Given the description of an element on the screen output the (x, y) to click on. 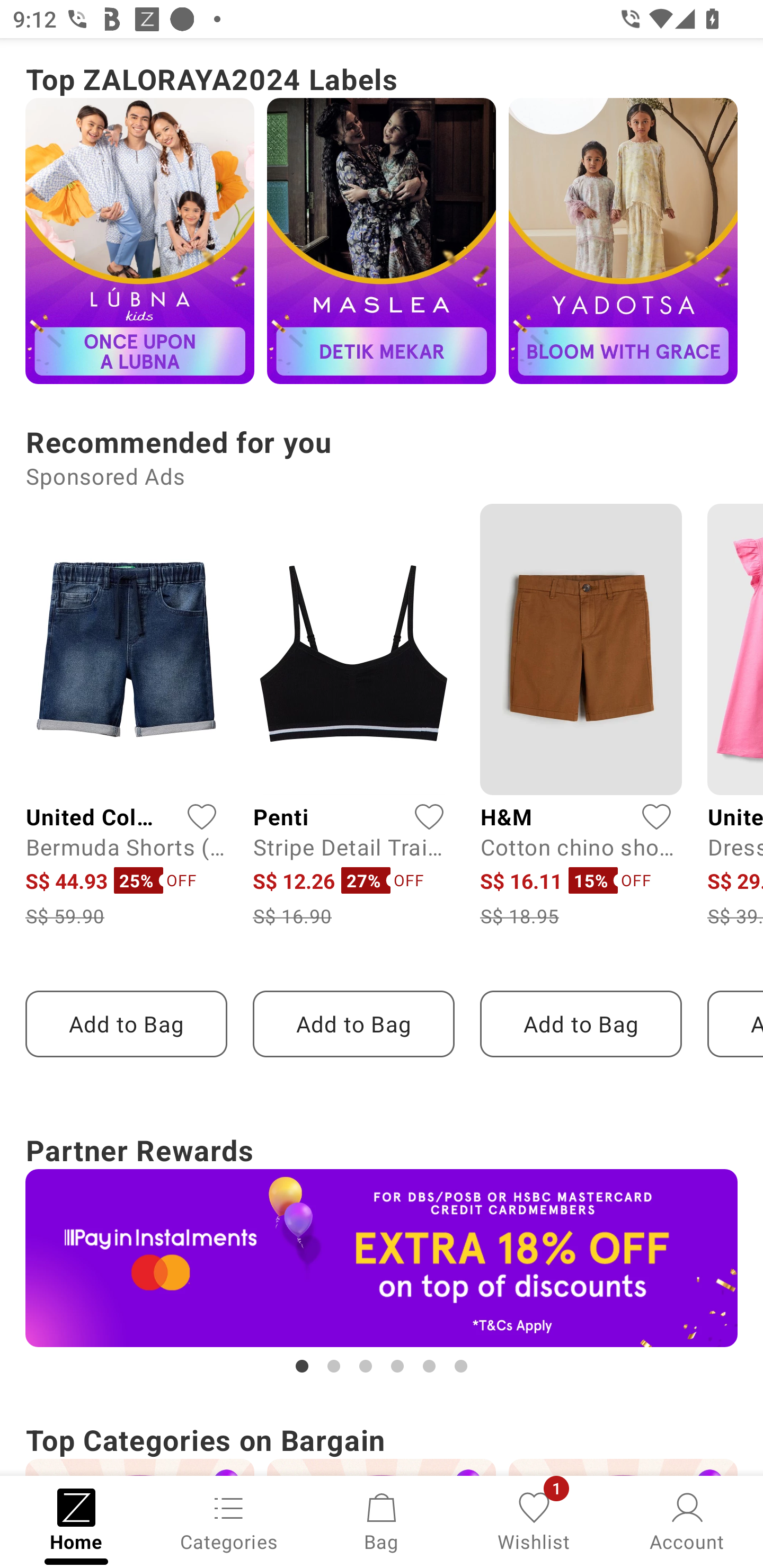
Campaign banner (139, 240)
Campaign banner (381, 240)
Campaign banner (622, 240)
Add to Bag (126, 1023)
Add to Bag (353, 1023)
Add to Bag (580, 1023)
Partner Rewards Campaign banner (381, 1252)
Campaign banner (381, 1257)
Categories (228, 1519)
Bag (381, 1519)
Wishlist, 1 new notification Wishlist (533, 1519)
Account (686, 1519)
